Given the description of an element on the screen output the (x, y) to click on. 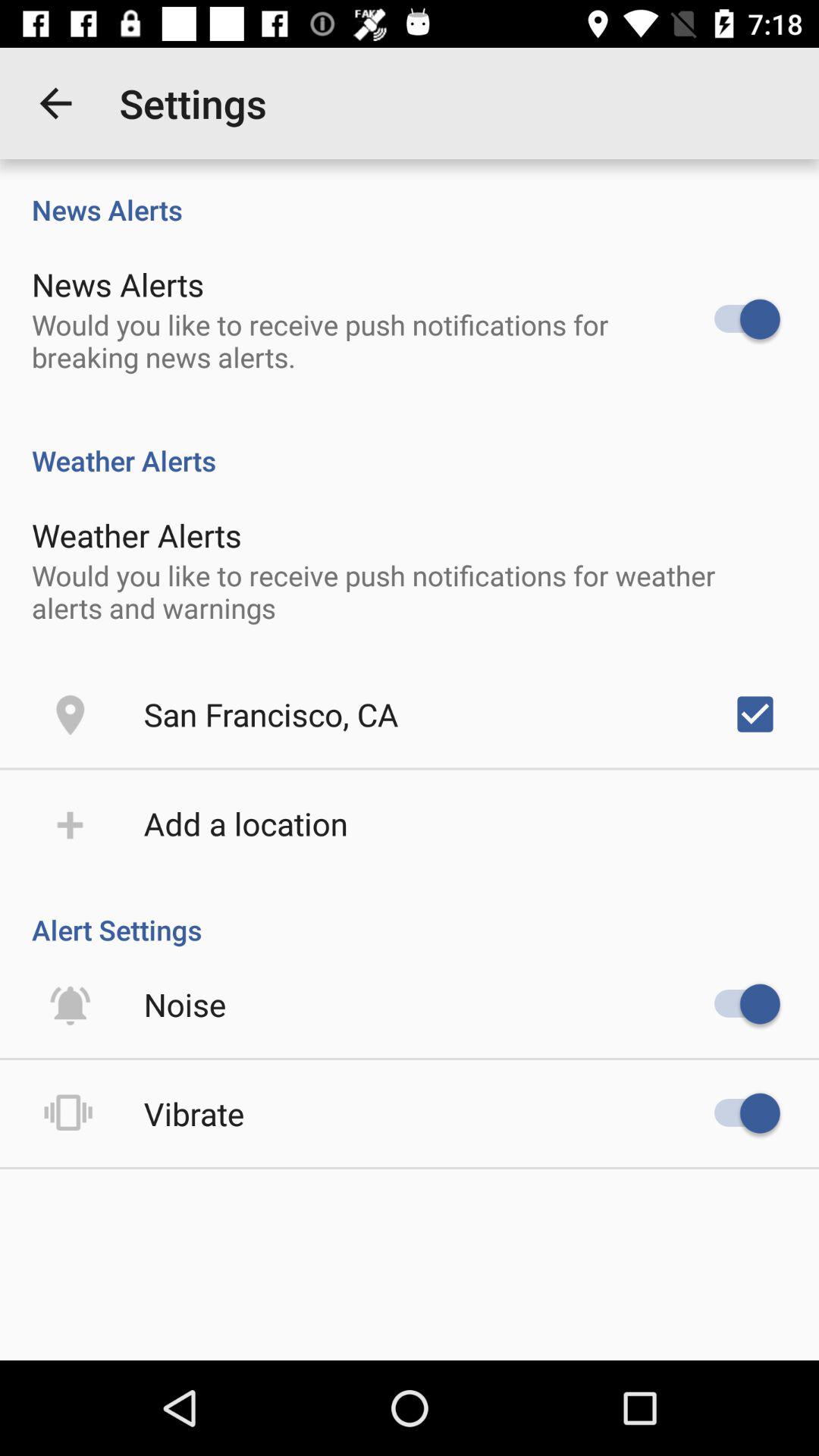
tap the app to the left of settings (55, 103)
